Given the description of an element on the screen output the (x, y) to click on. 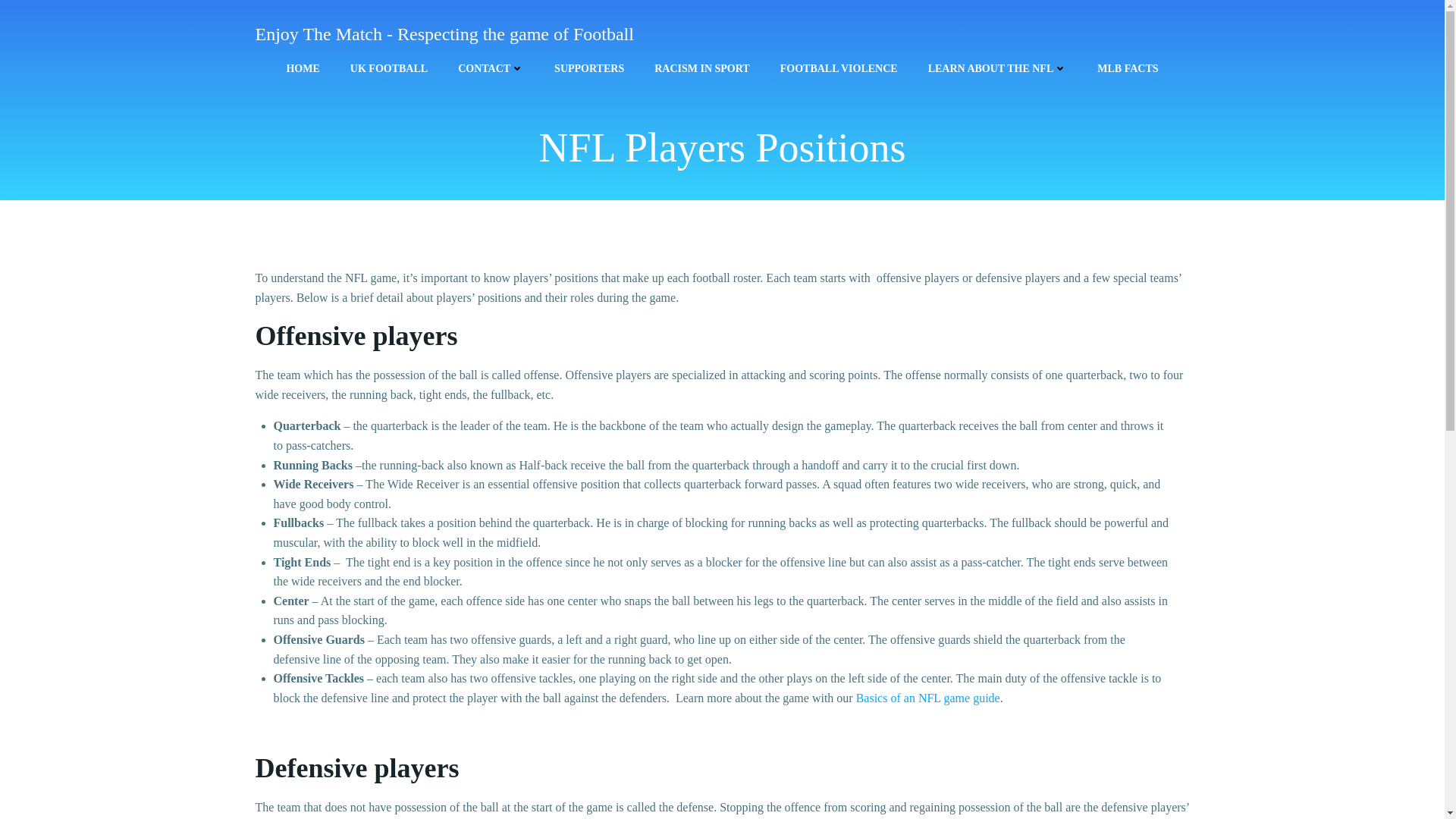
RACISM IN SPORT (701, 68)
LEARN ABOUT THE NFL (997, 68)
MLB FACTS (1127, 68)
Enjoy The Match - Respecting the game of Football (443, 33)
HOME (301, 68)
FOOTBALL VIOLENCE (839, 68)
SUPPORTERS (589, 68)
UK FOOTBALL (389, 68)
CONTACT (491, 68)
Basics of an NFL game guide (928, 697)
